Given the description of an element on the screen output the (x, y) to click on. 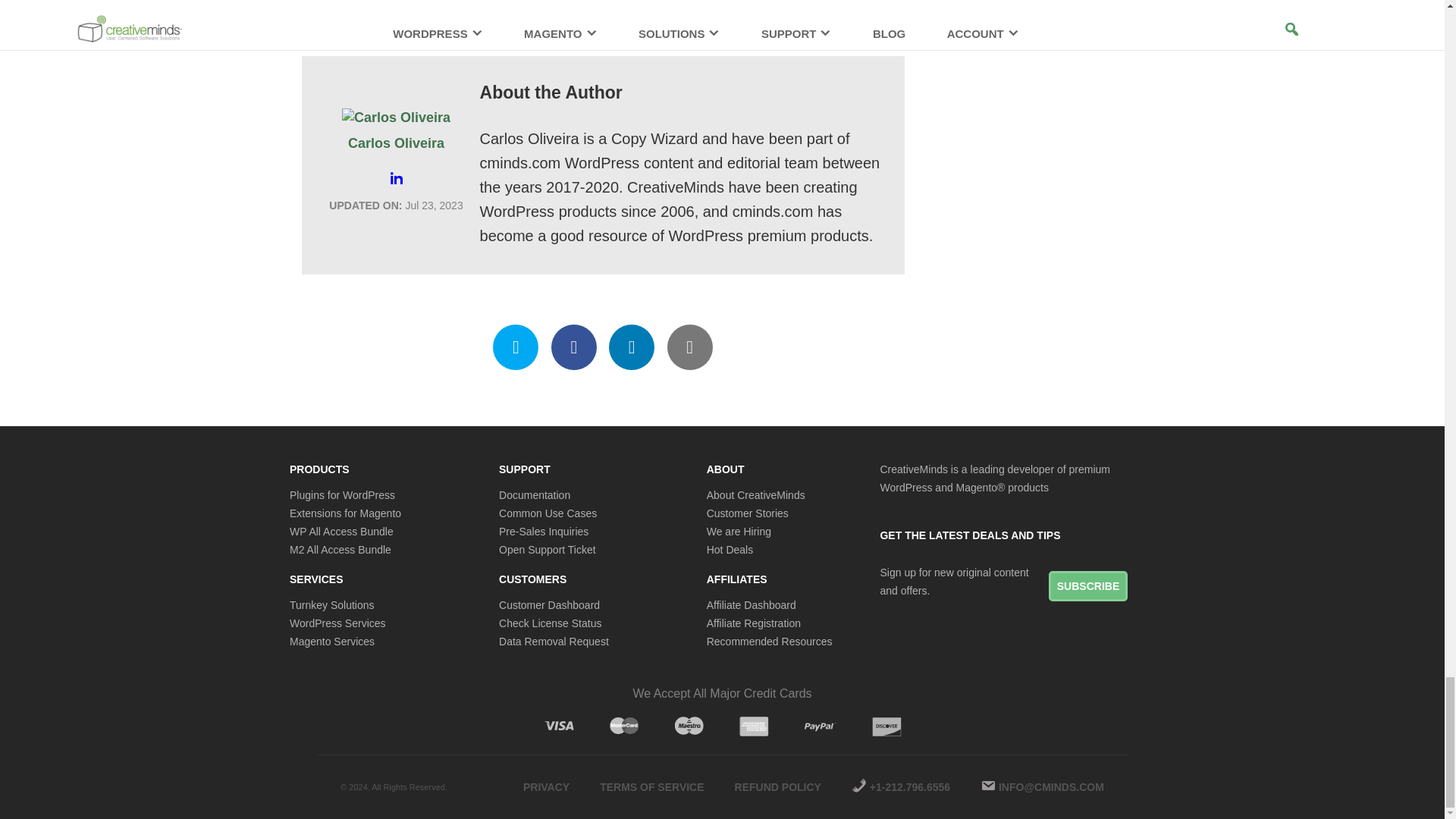
Share post on Twitter (515, 347)
Share post on LinkedIn (630, 347)
sahre post using email (689, 347)
Share post on Facebook (573, 347)
